Given the description of an element on the screen output the (x, y) to click on. 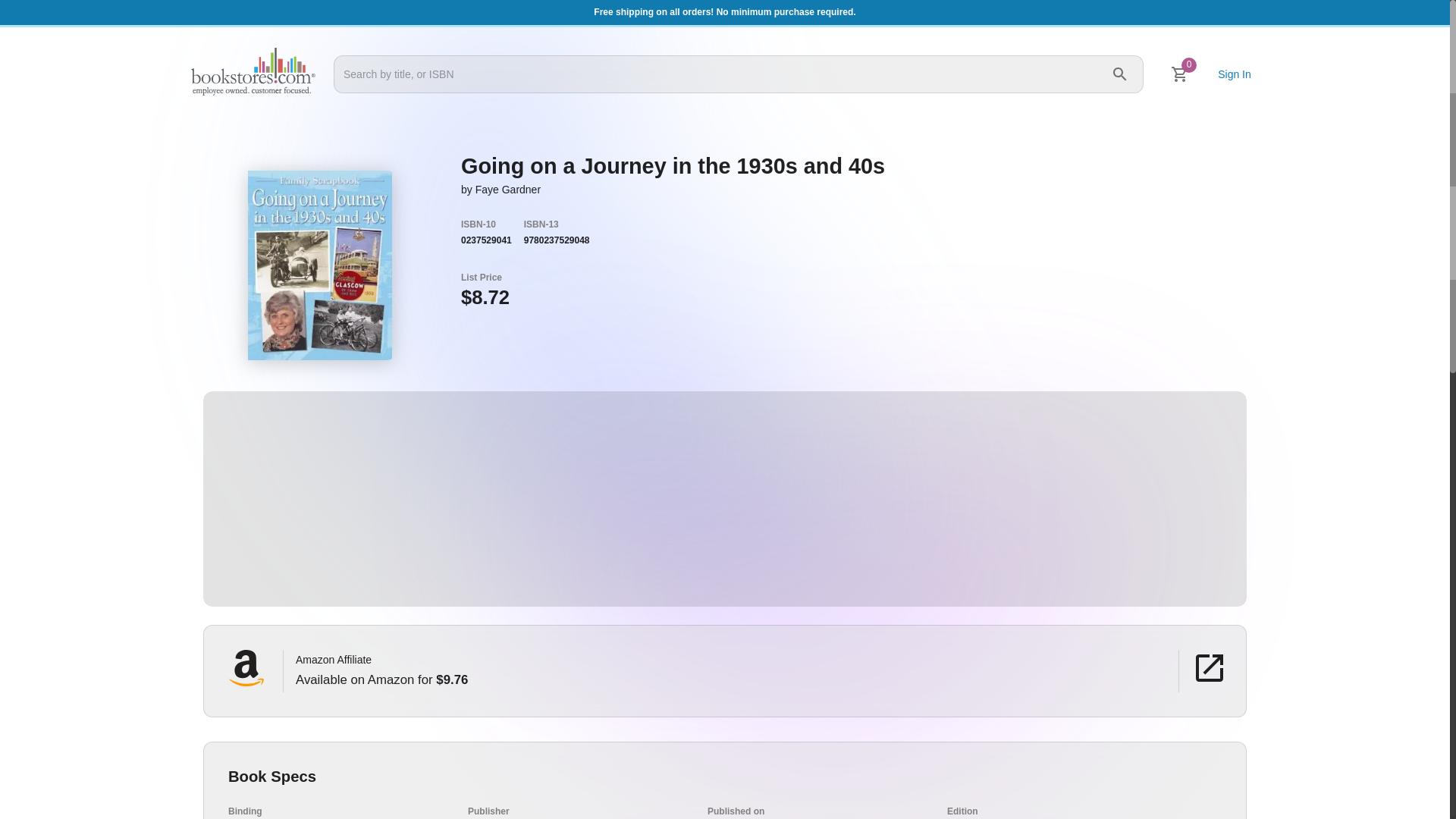
0 (1179, 74)
Going on a Journey in the 1930s and 40s (320, 265)
Sign In (1234, 74)
